Given the description of an element on the screen output the (x, y) to click on. 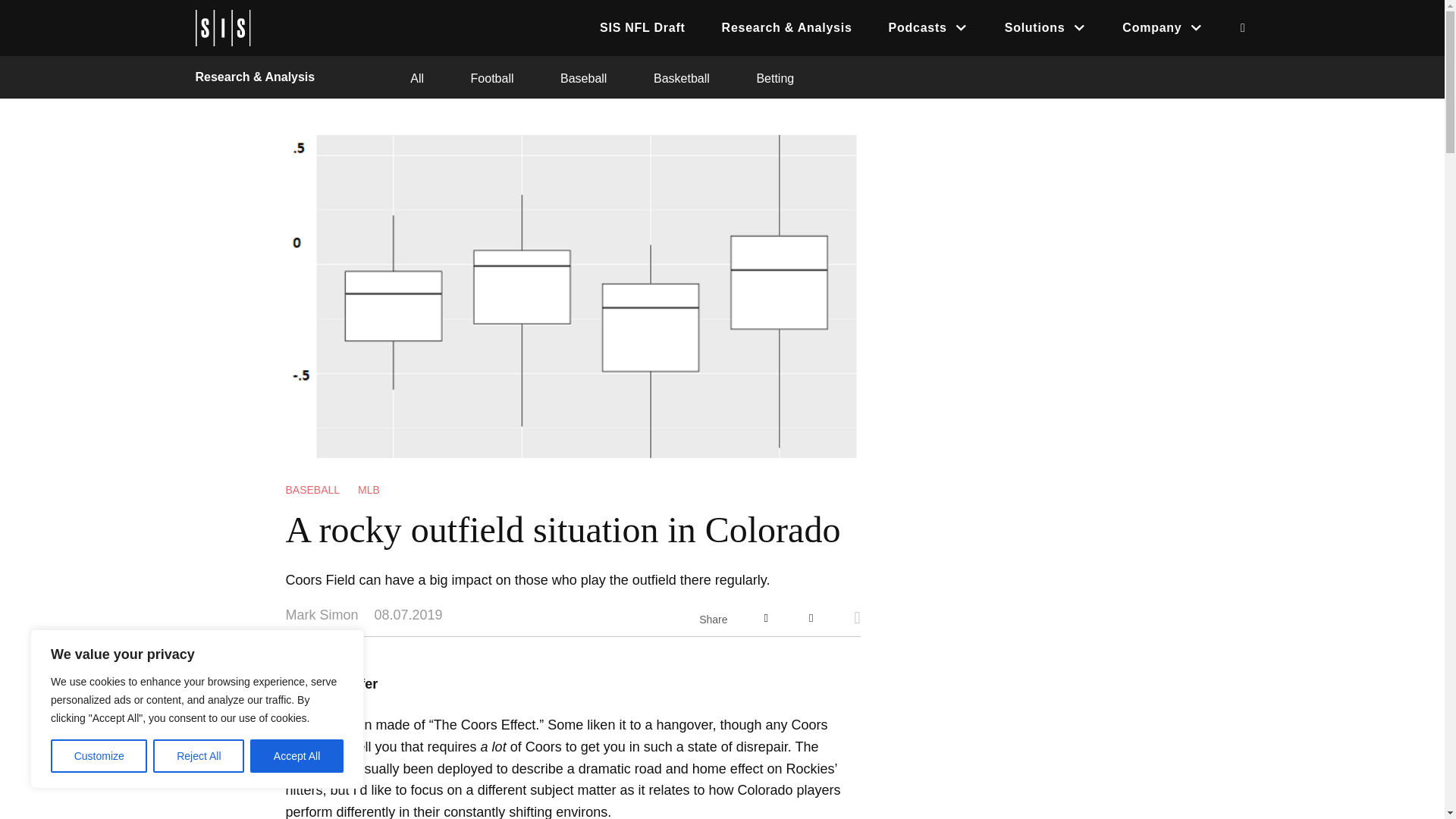
Solutions (1046, 27)
Company (1162, 27)
Podcasts (928, 27)
Reject All (198, 756)
Customize (98, 756)
SIS NFL Draft (641, 27)
Open Search (1242, 28)
Accept All (296, 756)
